Given the description of an element on the screen output the (x, y) to click on. 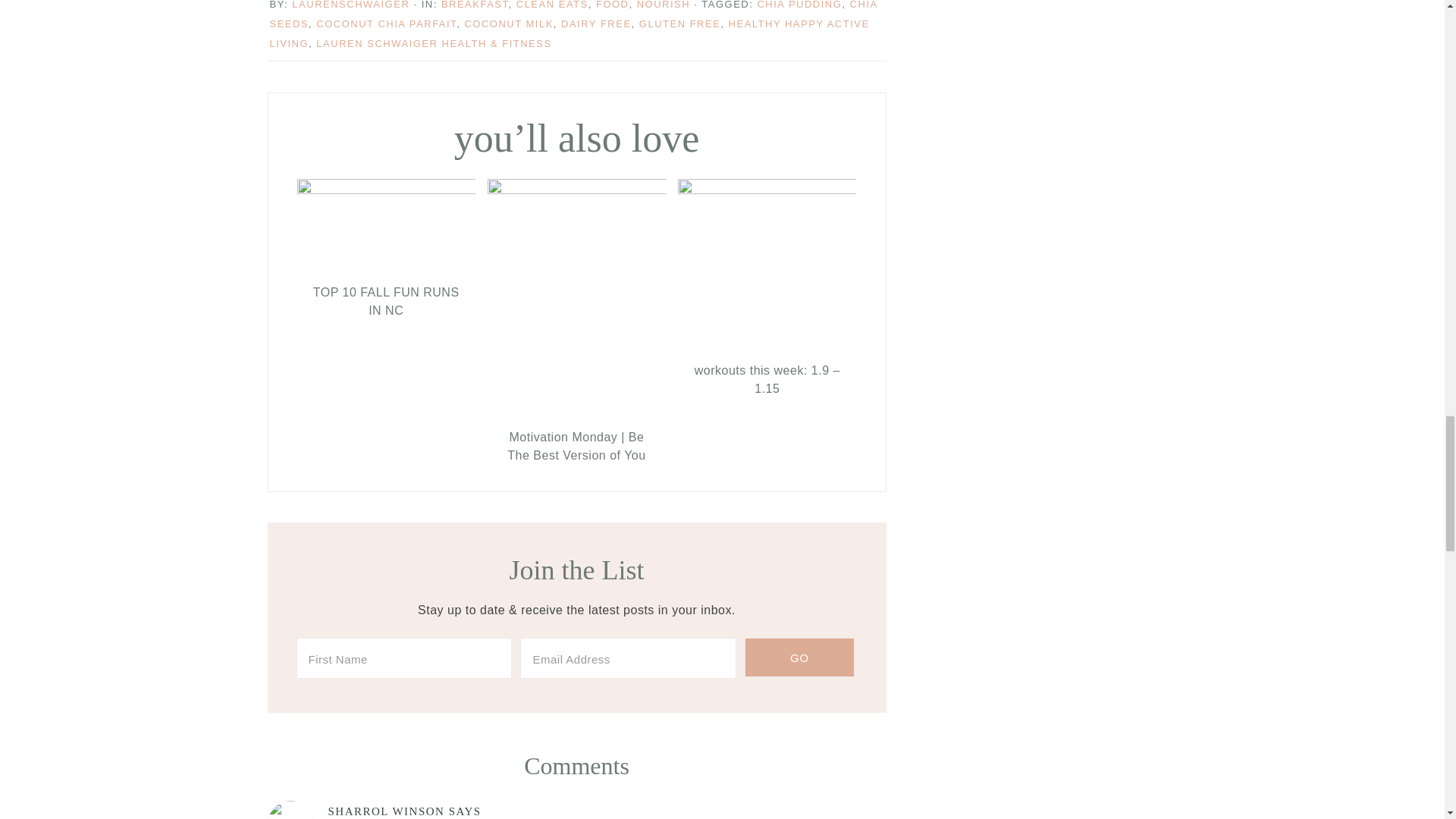
Permanent Link to TOP 10 FALL FUN RUNS IN NC (386, 189)
Go (798, 657)
Permanent Link to TOP 10 FALL FUN RUNS IN NC (386, 301)
